Given the description of an element on the screen output the (x, y) to click on. 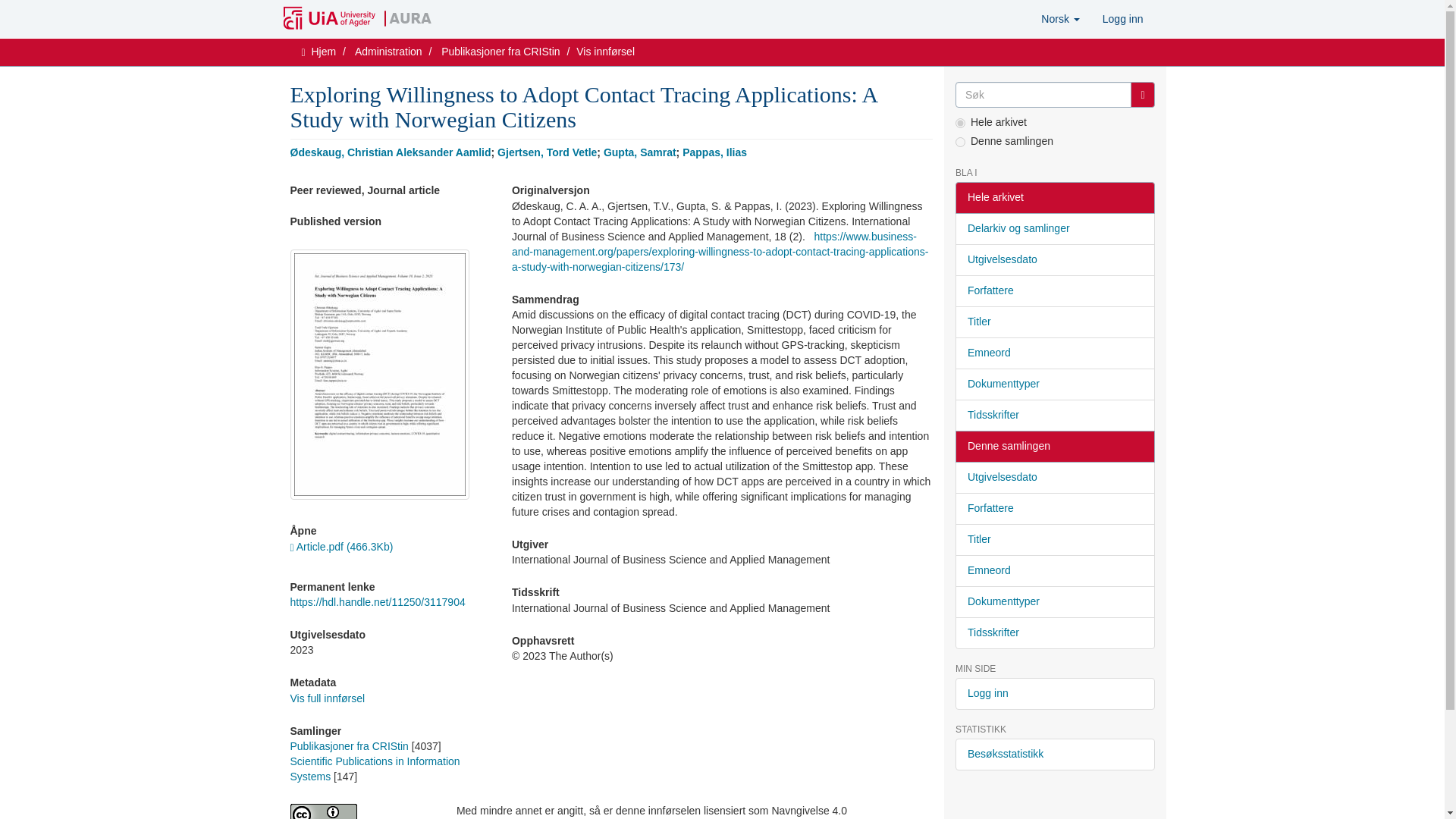
Logg inn (1122, 18)
Gupta, Samrat (640, 152)
Norsk  (1059, 18)
Scientific Publications in Information Systems (374, 768)
Pappas, Ilias (714, 152)
Publikasjoner fra CRIStin (500, 51)
Gjertsen, Tord Vetle (546, 152)
Publikasjoner fra CRIStin (348, 746)
Navngivelse 4.0 Internasjonal (360, 811)
Hele arkivet (1054, 197)
Delarkiv og samlinger (1054, 228)
Hjem (323, 51)
Administration (388, 51)
